Given the description of an element on the screen output the (x, y) to click on. 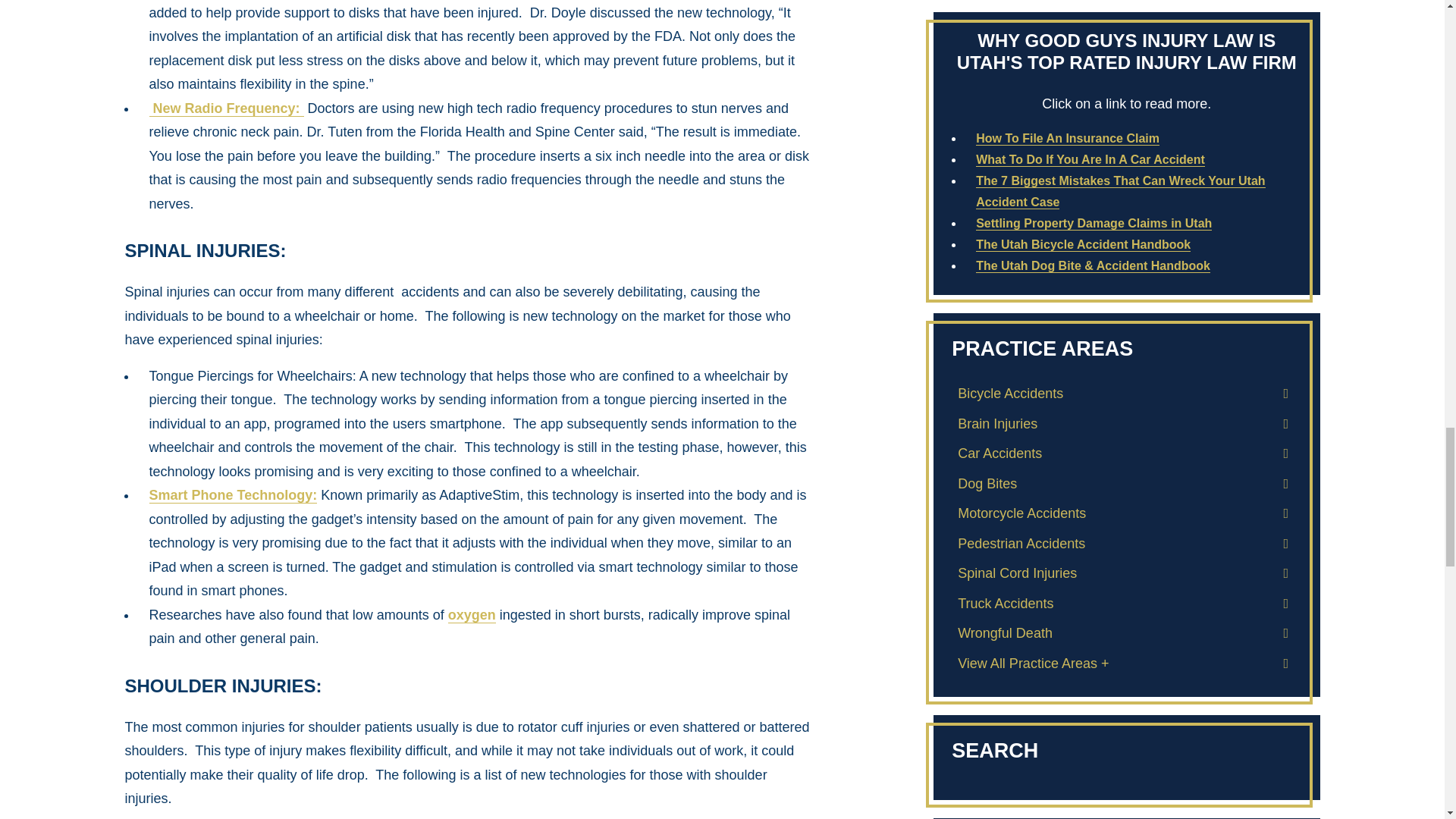
Oxygen (472, 615)
Smart Phone (232, 495)
Radio Frequency (225, 108)
